Given the description of an element on the screen output the (x, y) to click on. 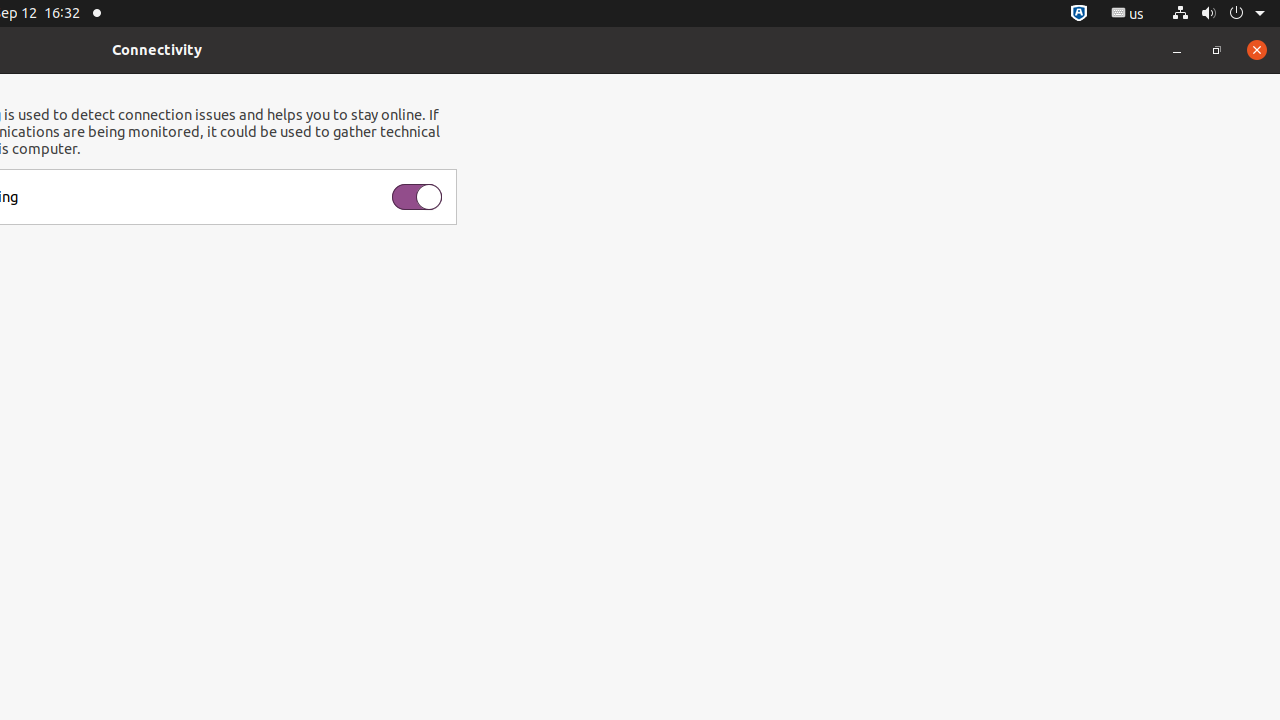
Close Element type: push-button (1257, 50)
